Given the description of an element on the screen output the (x, y) to click on. 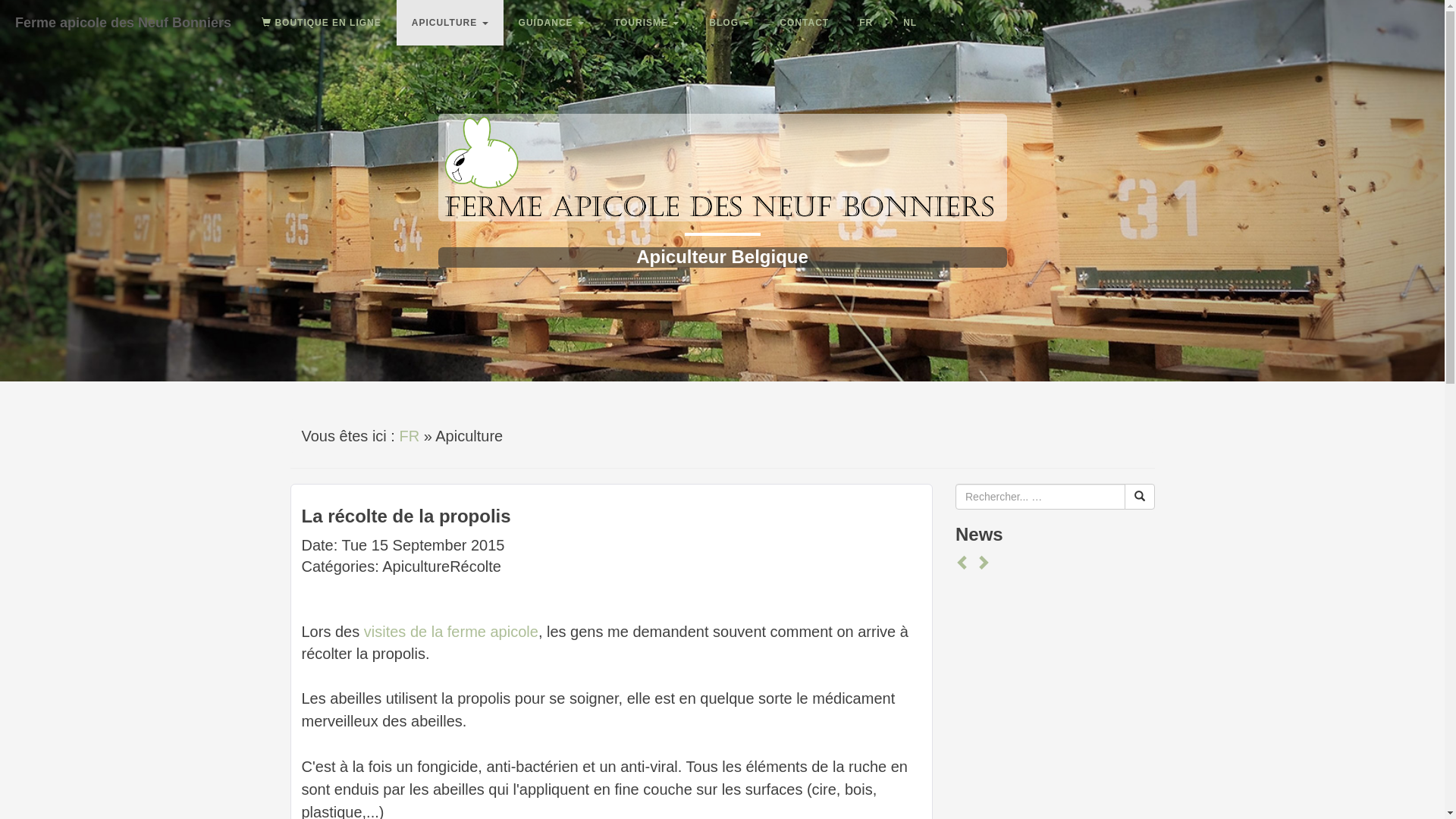
NL Element type: text (909, 22)
visites de la ferme apicole Element type: text (451, 631)
 BOUTIQUE EN LIGNE Element type: text (321, 22)
TOURISME Element type: text (646, 22)
BLOG Element type: text (728, 22)
FR Element type: text (866, 22)
FR Element type: text (408, 435)
Ferme apicole des Neuf Bonniers Element type: text (123, 18)
GUIDANCE Element type: text (551, 22)
APICULTURE Element type: text (449, 22)
CONTACT Element type: text (804, 22)
